Given the description of an element on the screen output the (x, y) to click on. 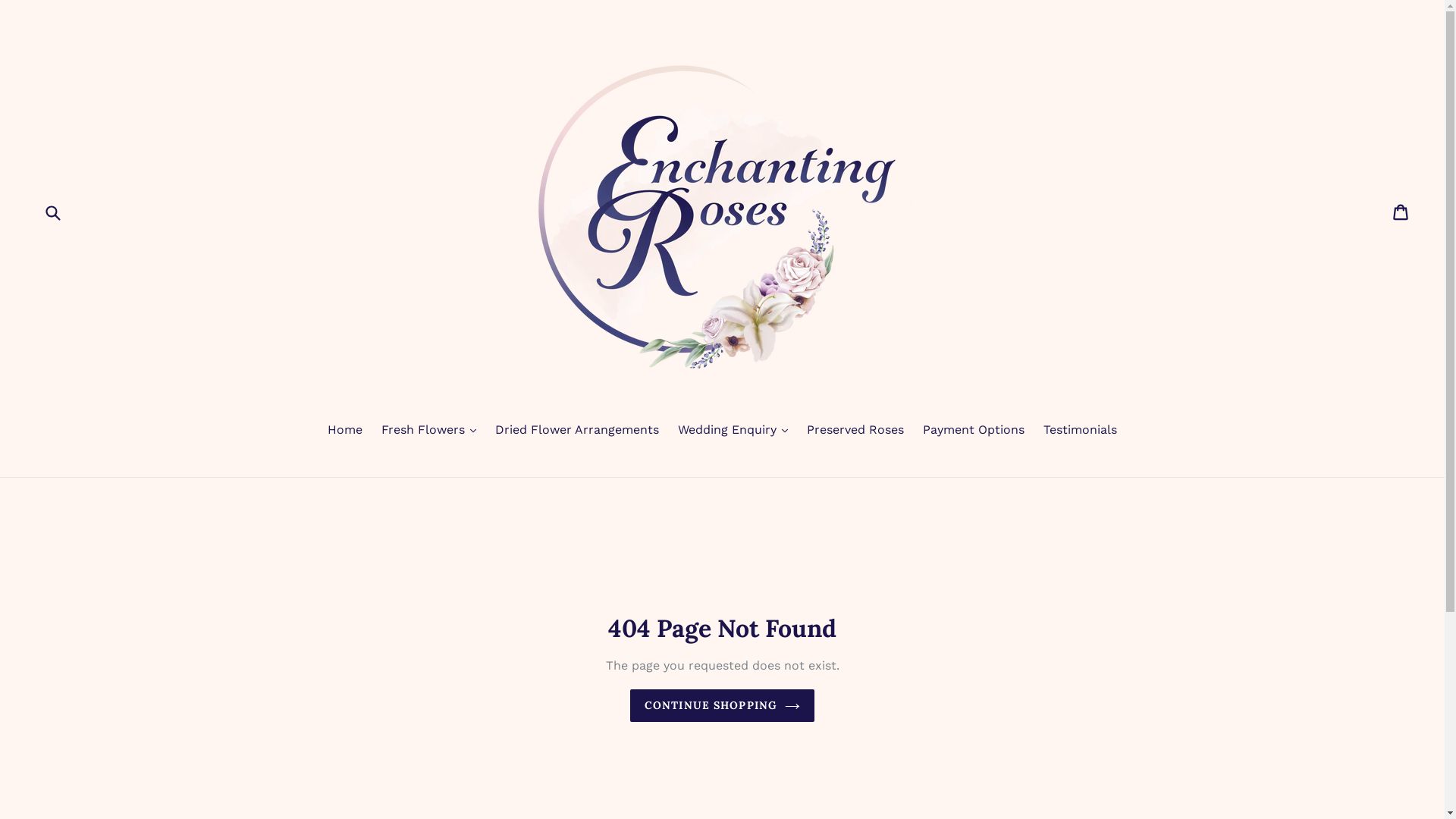
Dried Flower Arrangements Element type: text (576, 430)
Preserved Roses Element type: text (855, 430)
CONTINUE SHOPPING Element type: text (722, 705)
Payment Options Element type: text (973, 430)
Submit Element type: text (51, 211)
Home Element type: text (345, 430)
Testimonials Element type: text (1079, 430)
Cart
Cart Element type: text (1401, 211)
